Given the description of an element on the screen output the (x, y) to click on. 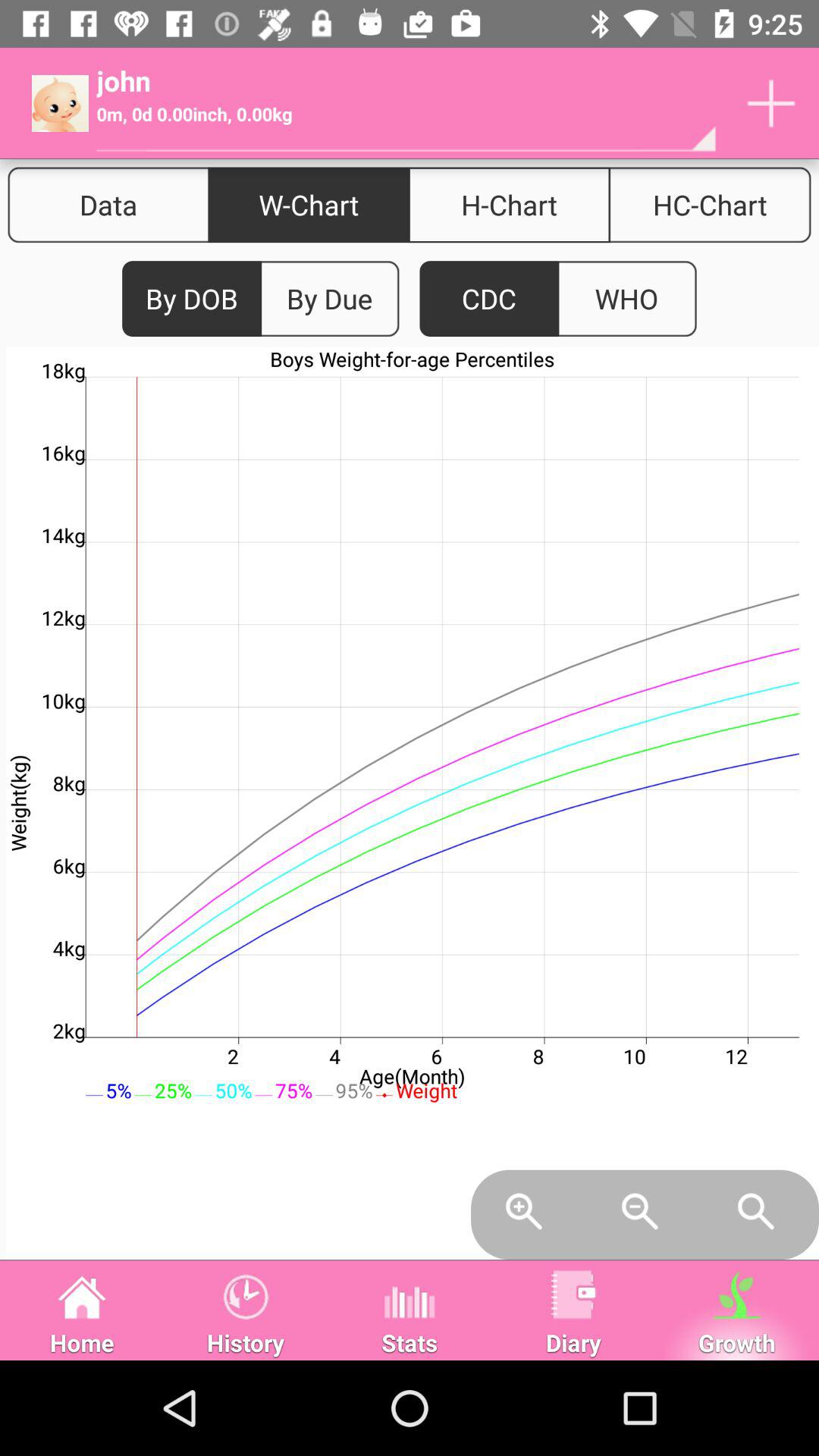
turn off icon to the right of by dob icon (329, 298)
